Given the description of an element on the screen output the (x, y) to click on. 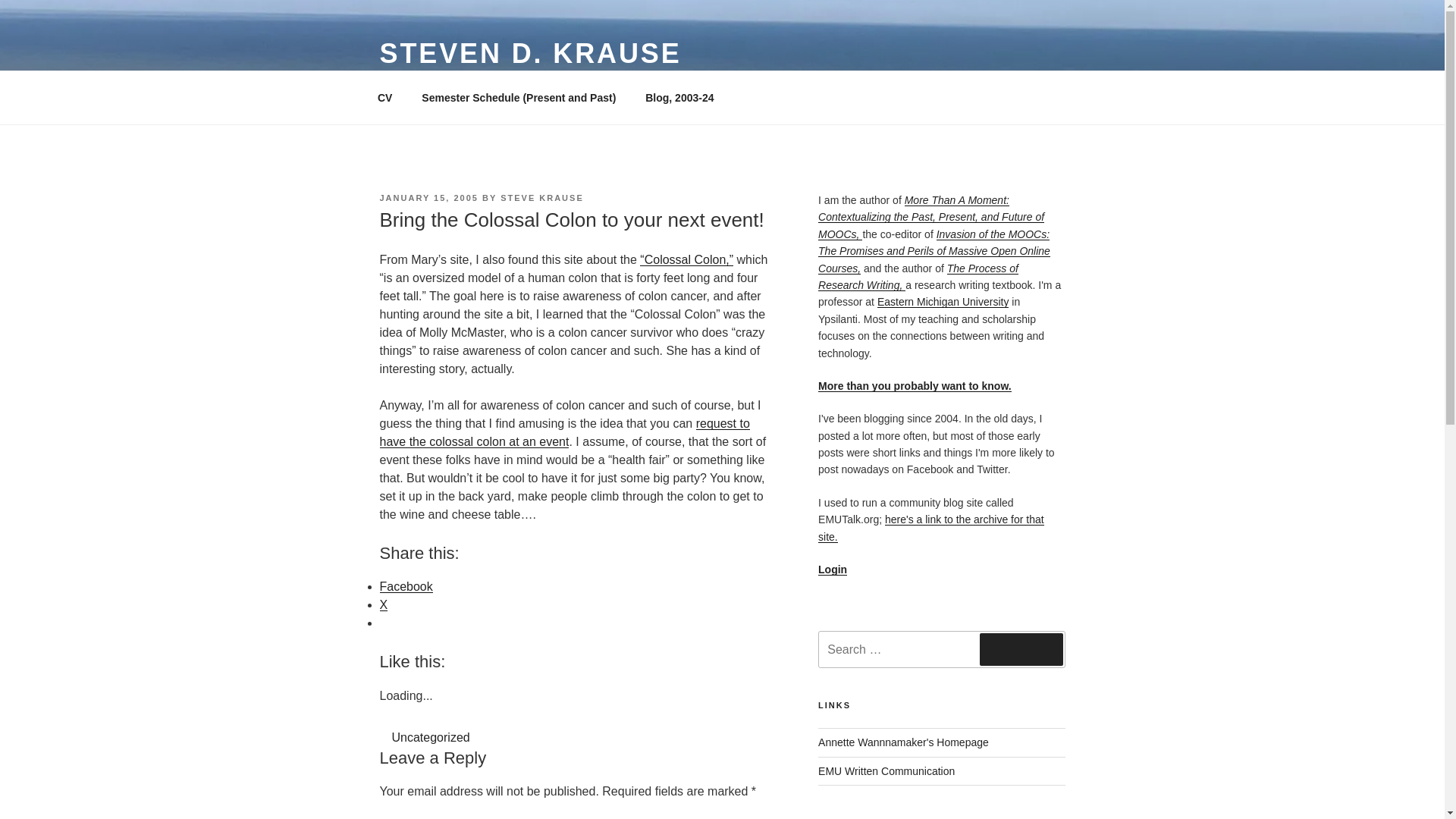
JANUARY 15, 2005 (427, 197)
Facebook (405, 585)
here's a link to the archive for that site. (930, 527)
Blog, 2003-24 (678, 97)
STEVE KRAUSE (541, 197)
request to have the colossal colon at an event (563, 431)
Uncategorized (429, 737)
Search (1020, 649)
